Given the description of an element on the screen output the (x, y) to click on. 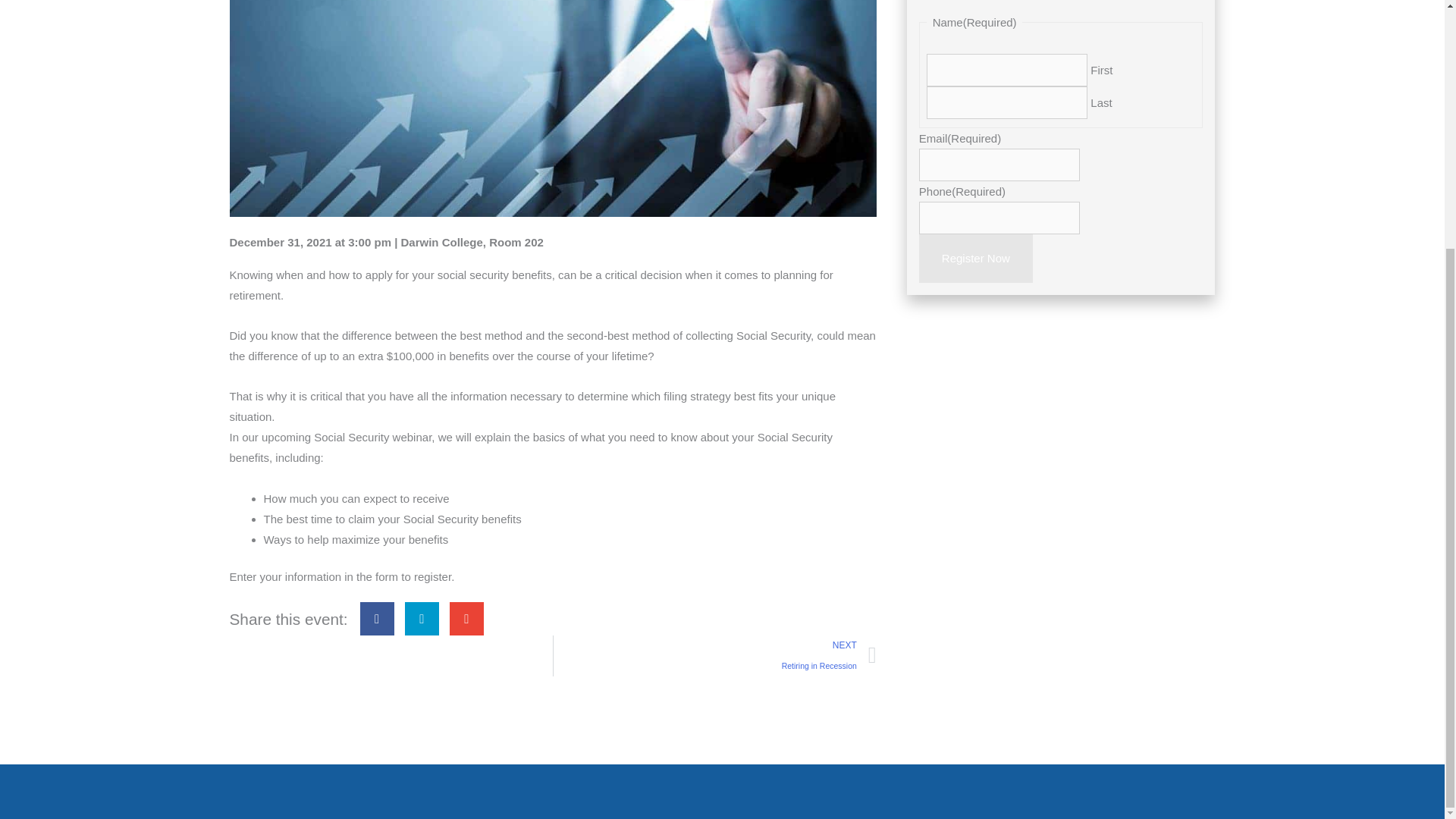
Register Now (975, 258)
